Given the description of an element on the screen output the (x, y) to click on. 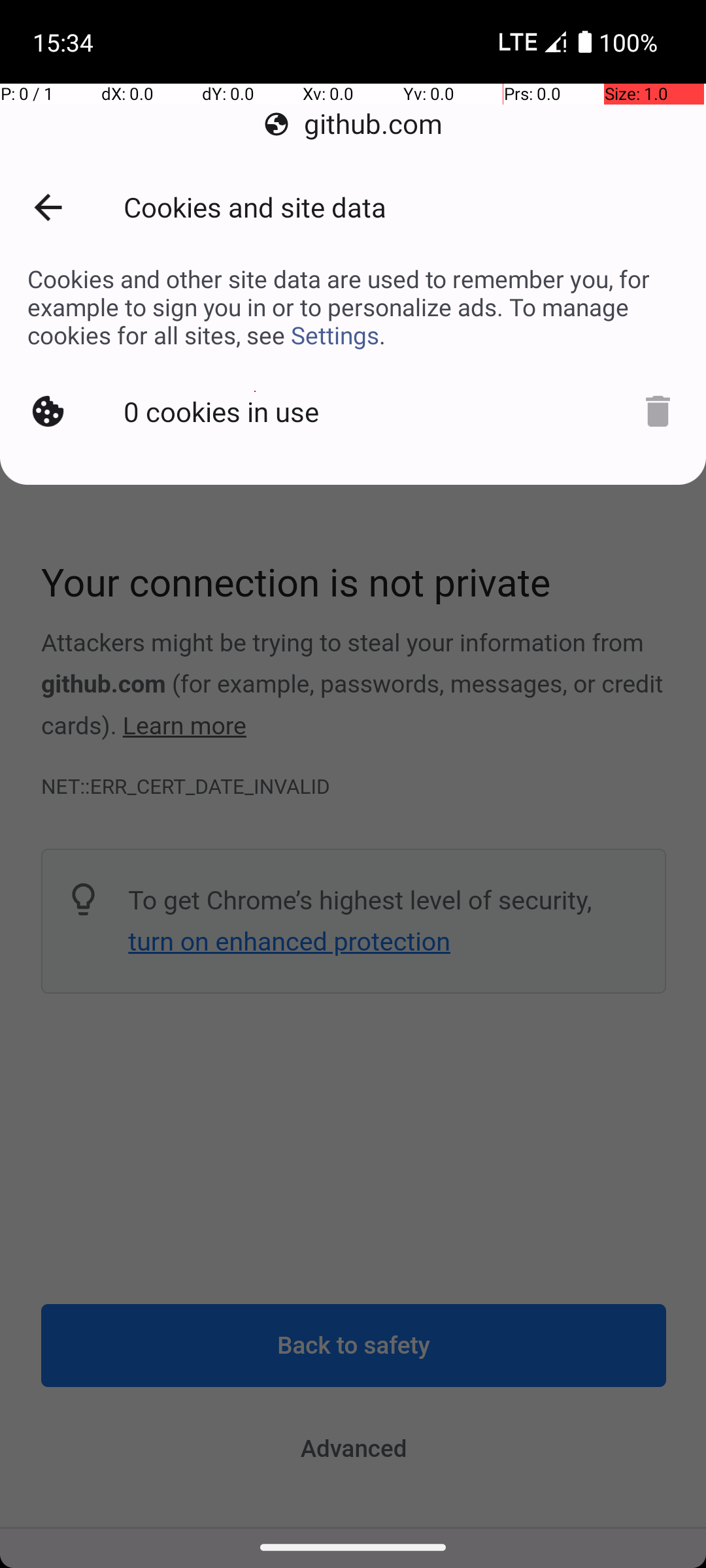
github.com Element type: android.widget.TextView (352, 124)
Cookies and other site data are used to remember you, for example to sign you in or to personalize ads. To manage cookies for all sites, see Settings. Element type: android.widget.TextView (352, 306)
0 cookies in use Element type: android.widget.TextView (221, 410)
Delete cookies? Element type: android.widget.ImageView (655, 410)
